Given the description of an element on the screen output the (x, y) to click on. 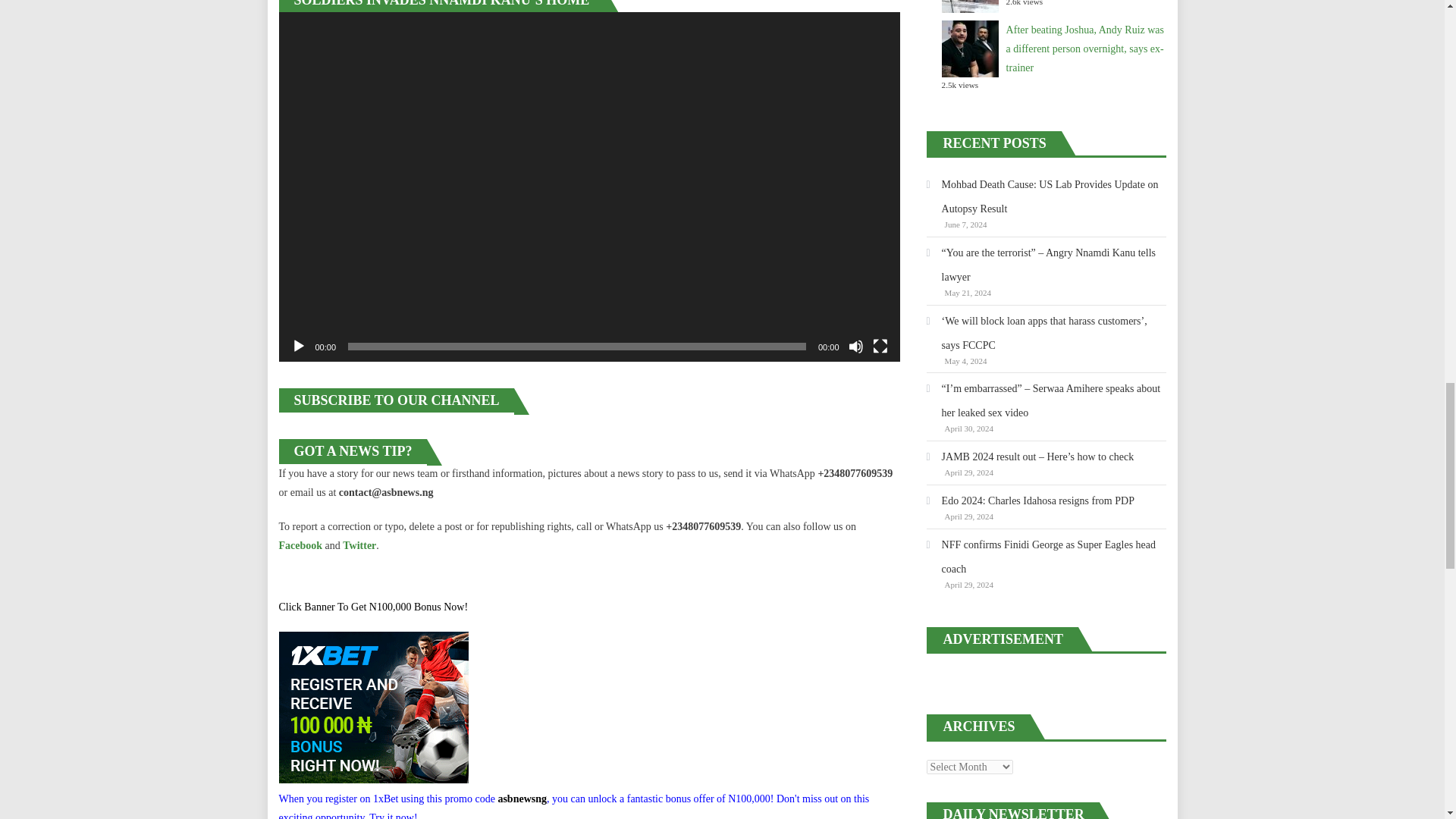
Fullscreen (879, 346)
Play (298, 346)
Mute (855, 346)
